Given the description of an element on the screen output the (x, y) to click on. 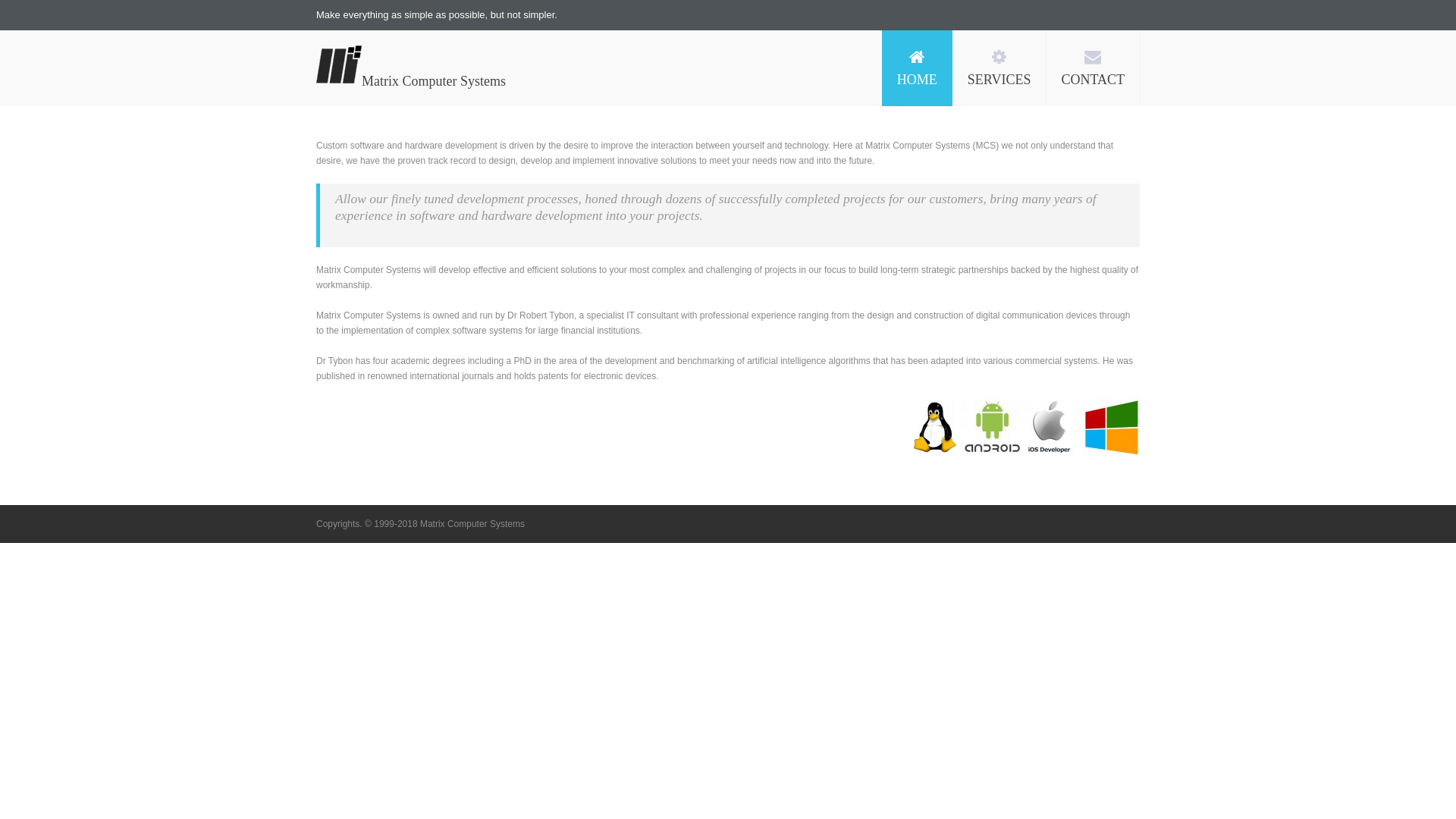
SERVICES Element type: text (999, 68)
CONTACT Element type: text (1092, 68)
Matrix Computer Systems Element type: text (433, 80)
HOME Element type: text (916, 68)
